Given the description of an element on the screen output the (x, y) to click on. 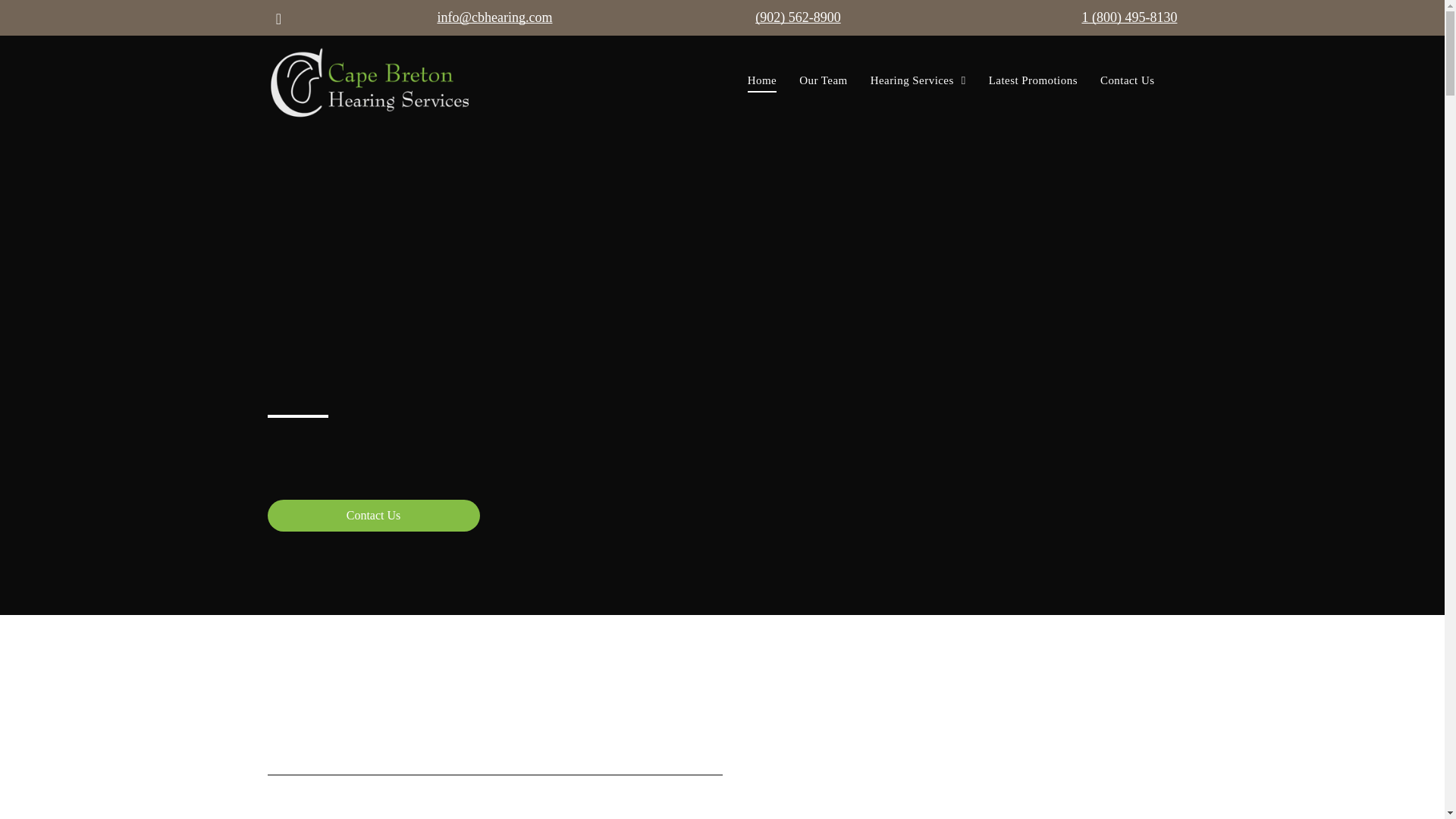
Hearing Services (917, 80)
Latest Promotions (1032, 80)
Contact Us (372, 515)
Our Team (823, 80)
Contact Us (1127, 80)
Home (761, 80)
